Given the description of an element on the screen output the (x, y) to click on. 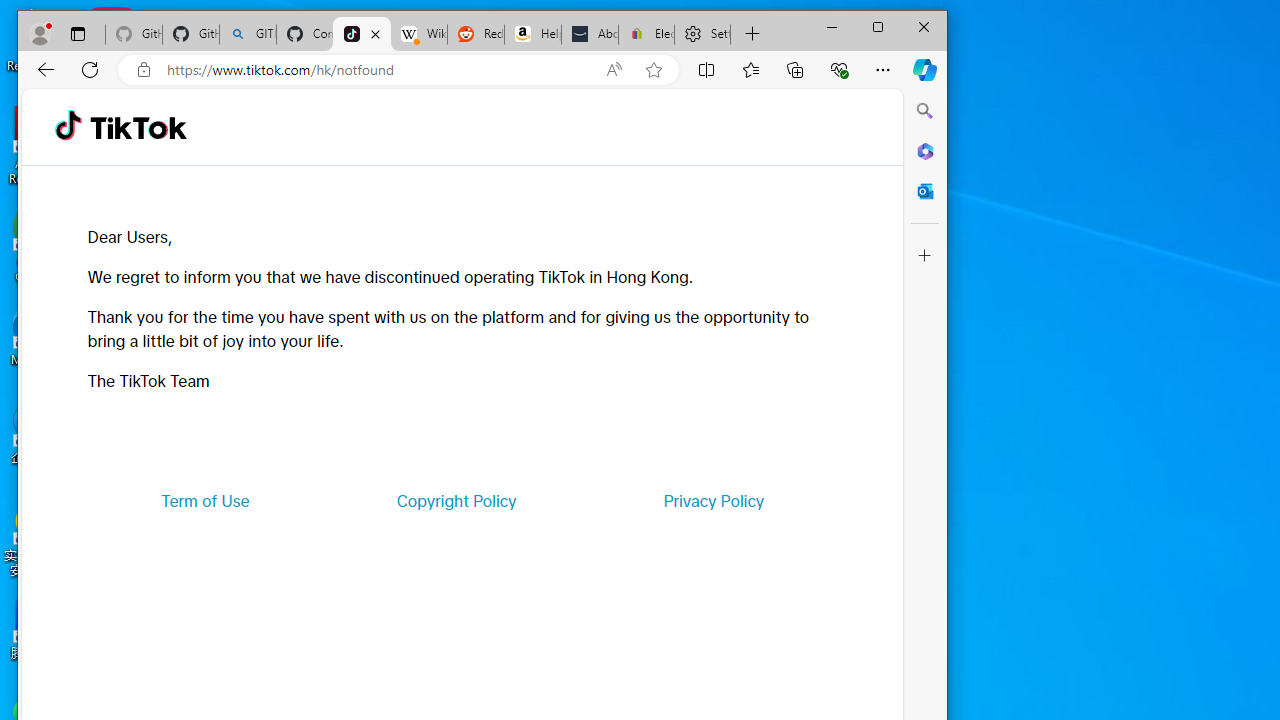
TikTok (138, 126)
Copyright Policy (456, 500)
GITHUB - Search (248, 34)
TikTok (362, 34)
